Given the description of an element on the screen output the (x, y) to click on. 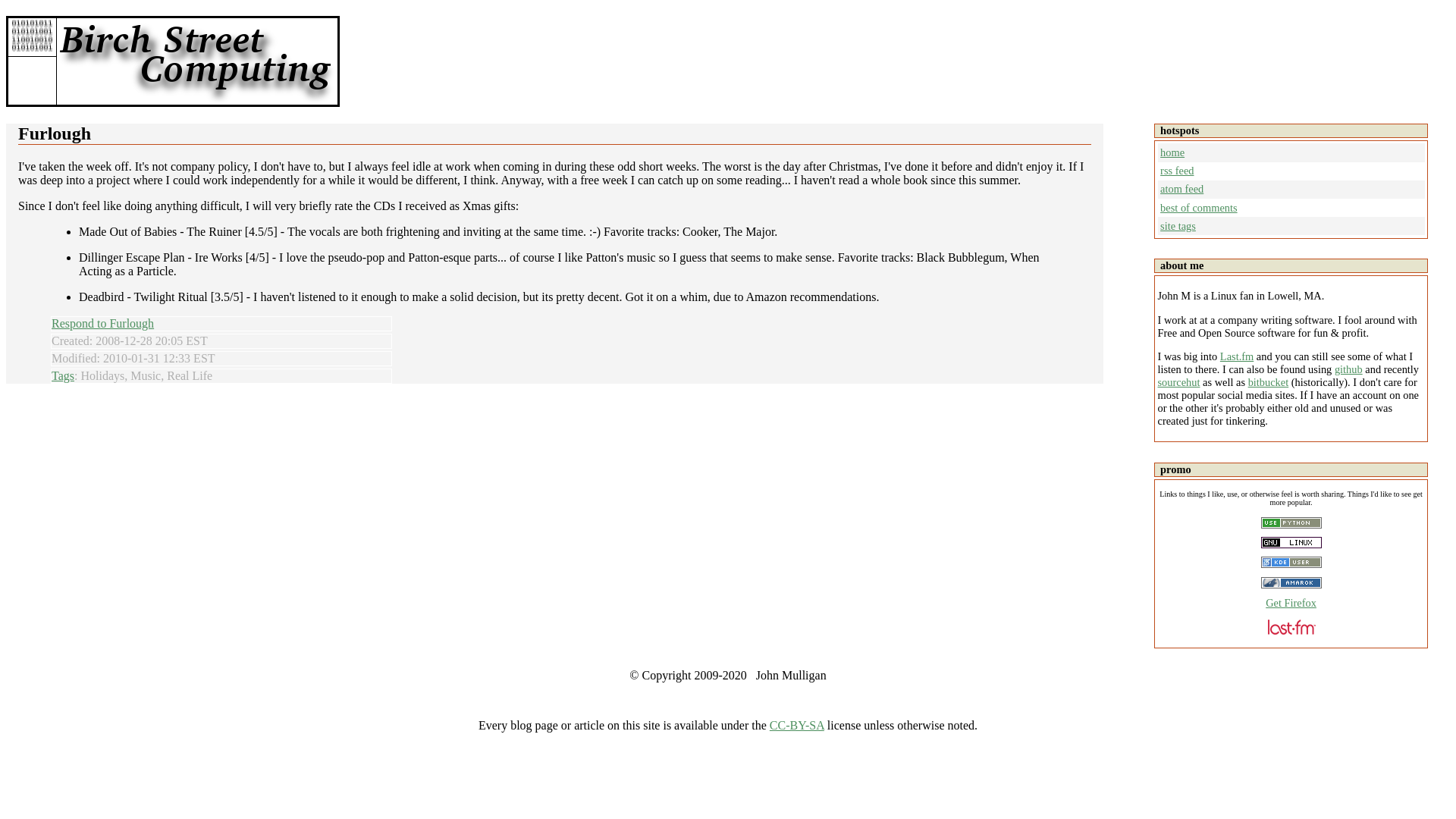
home (1172, 152)
Tags (62, 375)
Last.fm (1236, 356)
atom feed (1182, 188)
Respond to Furlough (102, 323)
Birch Street Computing - (195, 61)
sourcehut (1178, 381)
best of comments (1198, 207)
Get Firefox (1290, 603)
site tags (1177, 225)
rss feed (1176, 170)
github (1348, 369)
bitbucket (1267, 381)
